Given the description of an element on the screen output the (x, y) to click on. 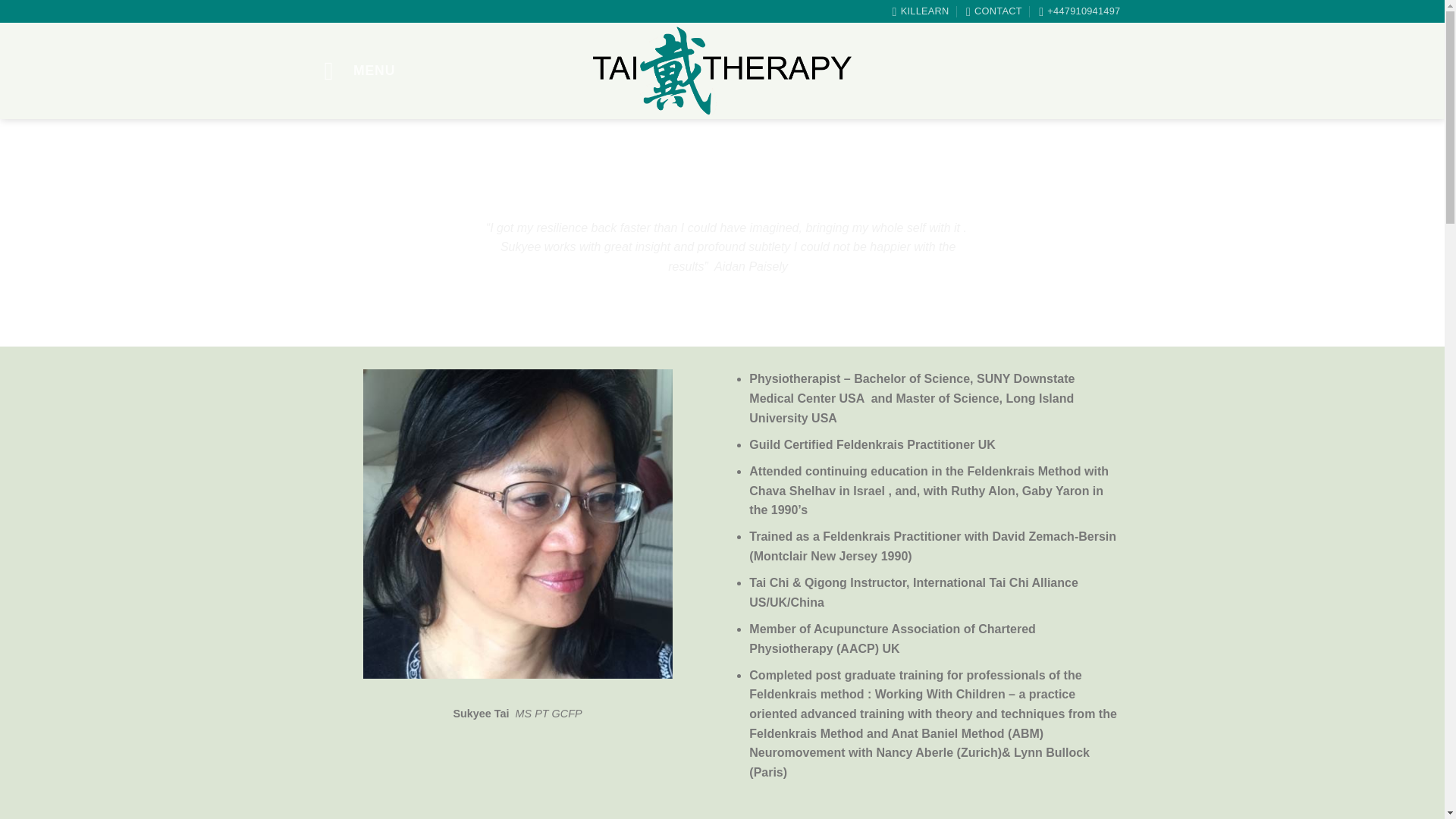
KILLEARN (920, 11)
MENU (360, 71)
CONTACT (994, 11)
